Given the description of an element on the screen output the (x, y) to click on. 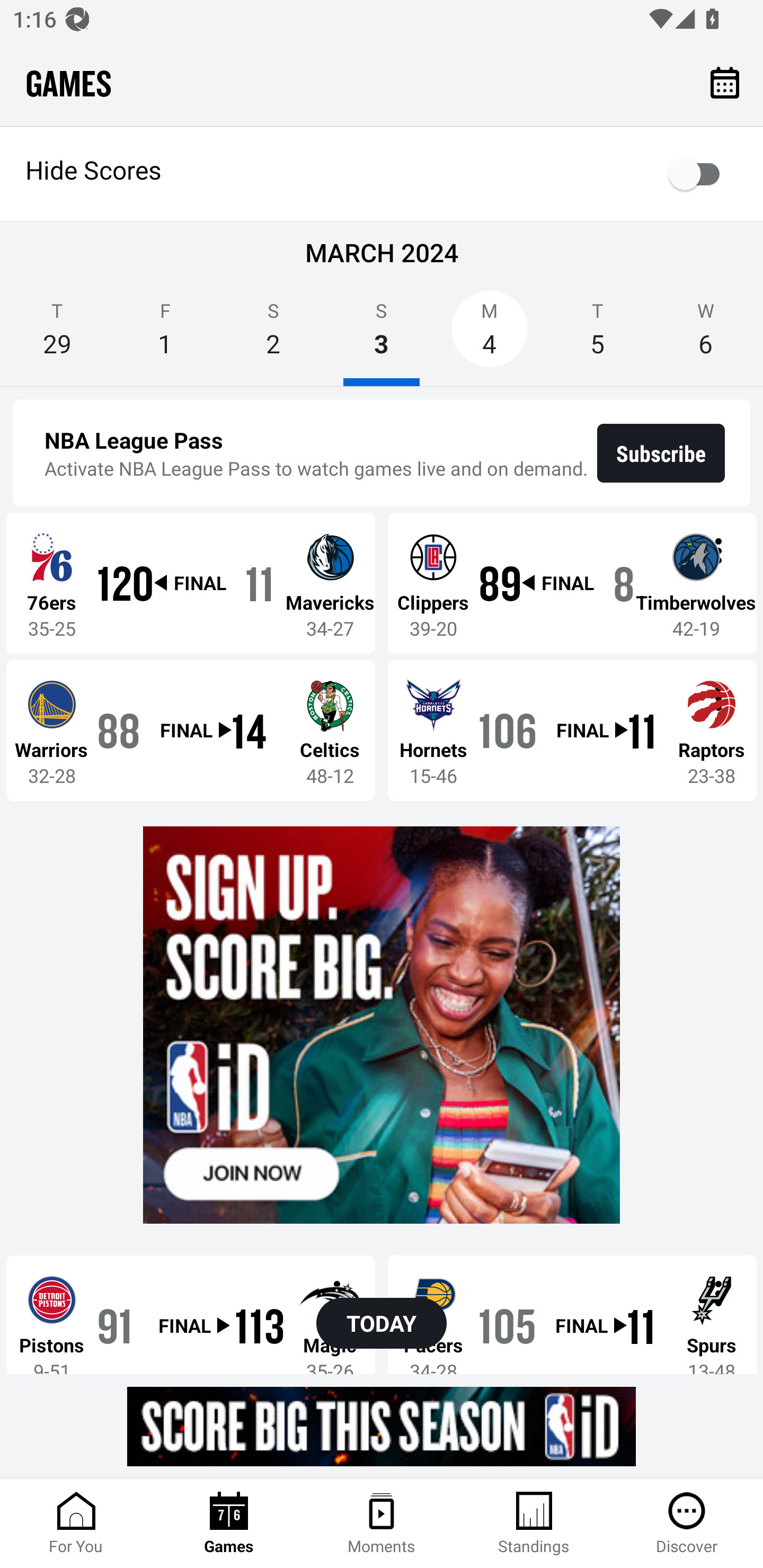
Calendar (724, 81)
Hide Scores (381, 174)
T 29 (57, 334)
F 1 (165, 334)
S 2 (273, 334)
S 3 (381, 334)
M 4 (489, 334)
T 5 (597, 334)
W 6 (705, 334)
Subscribe (660, 452)
TODAY (381, 1323)
For You (76, 1523)
Moments (381, 1523)
Standings (533, 1523)
Discover (686, 1523)
